Given the description of an element on the screen output the (x, y) to click on. 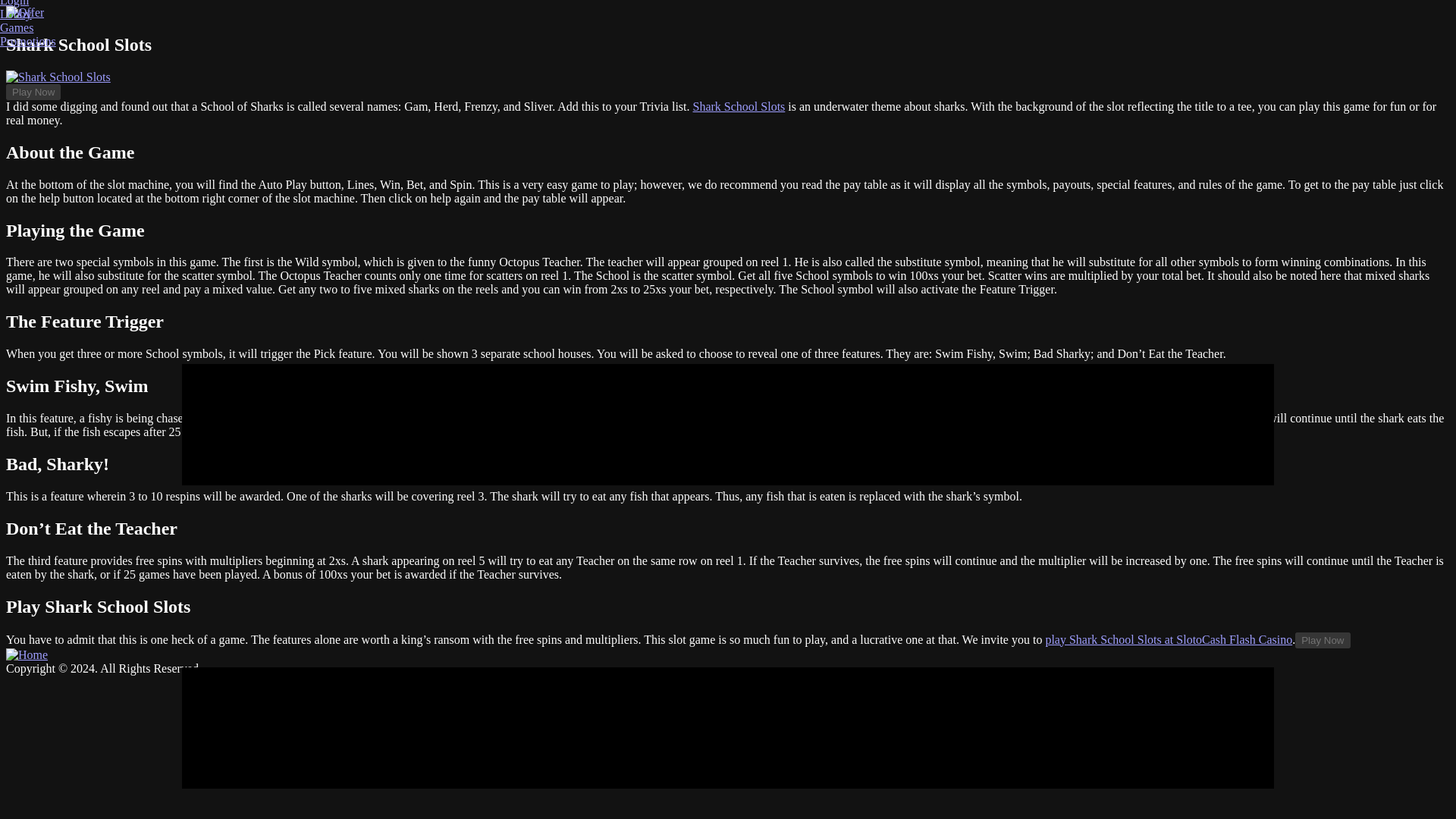
Play Now (1322, 640)
Shark School Slots (739, 106)
Play Now (33, 91)
play Shark School Slots at SlotoCash Flash Casino (1168, 638)
